Given the description of an element on the screen output the (x, y) to click on. 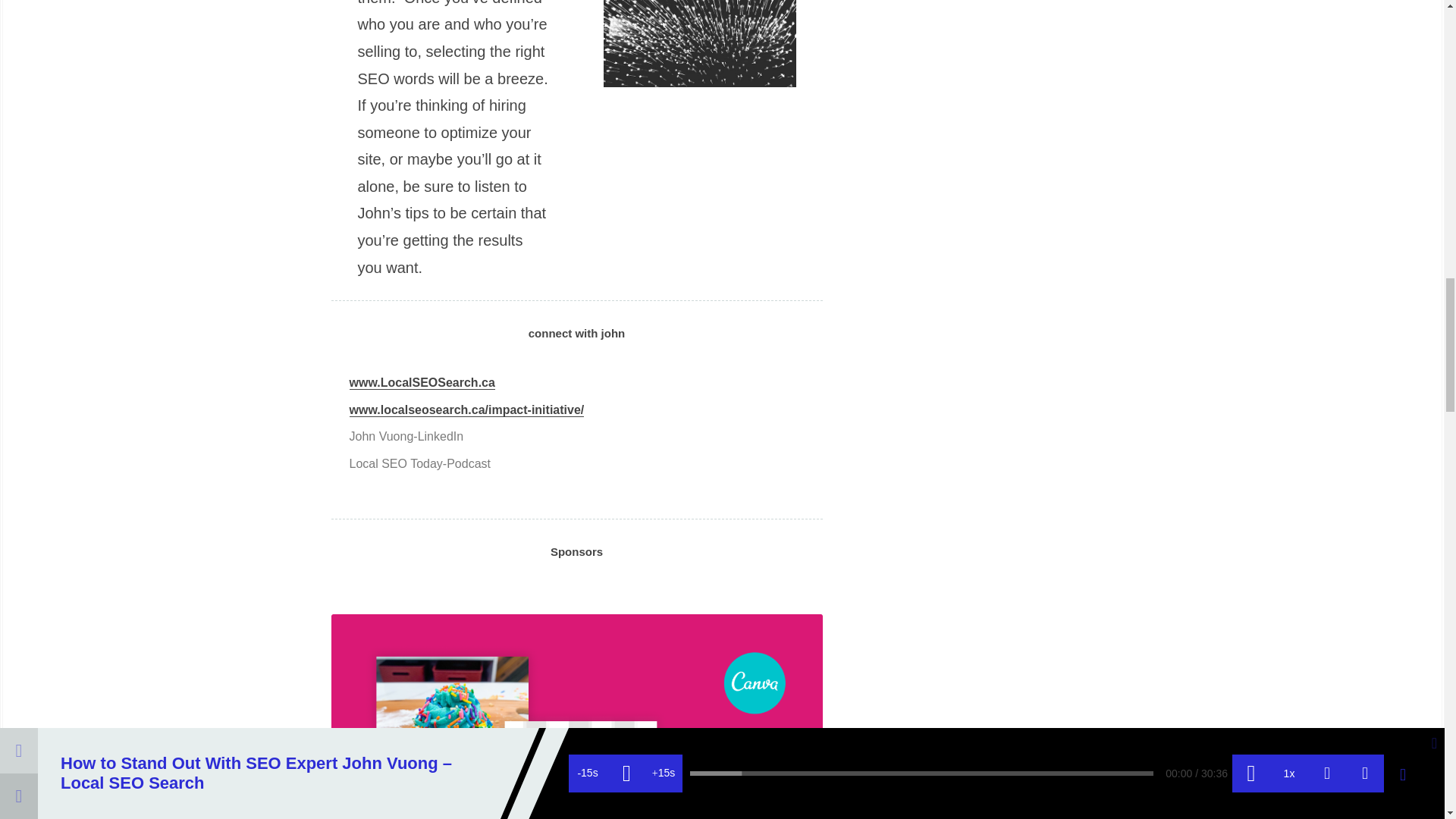
Know-Your-Target-Audience.jpg (700, 43)
www.LocalSEOSearch.ca (422, 382)
